Given the description of an element on the screen output the (x, y) to click on. 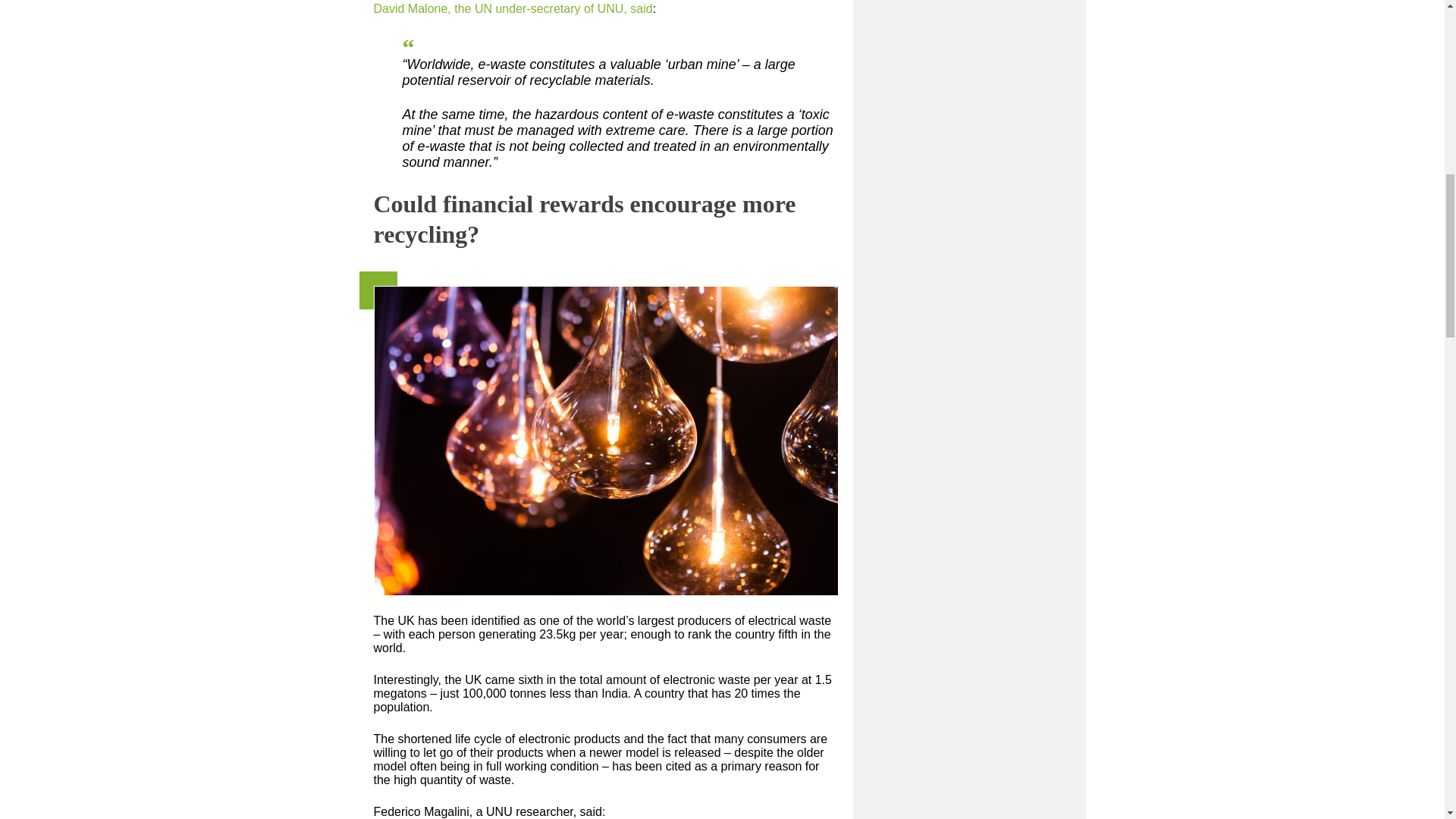
David Malone, the UN under-secretary of UNU, said (512, 8)
